Given the description of an element on the screen output the (x, y) to click on. 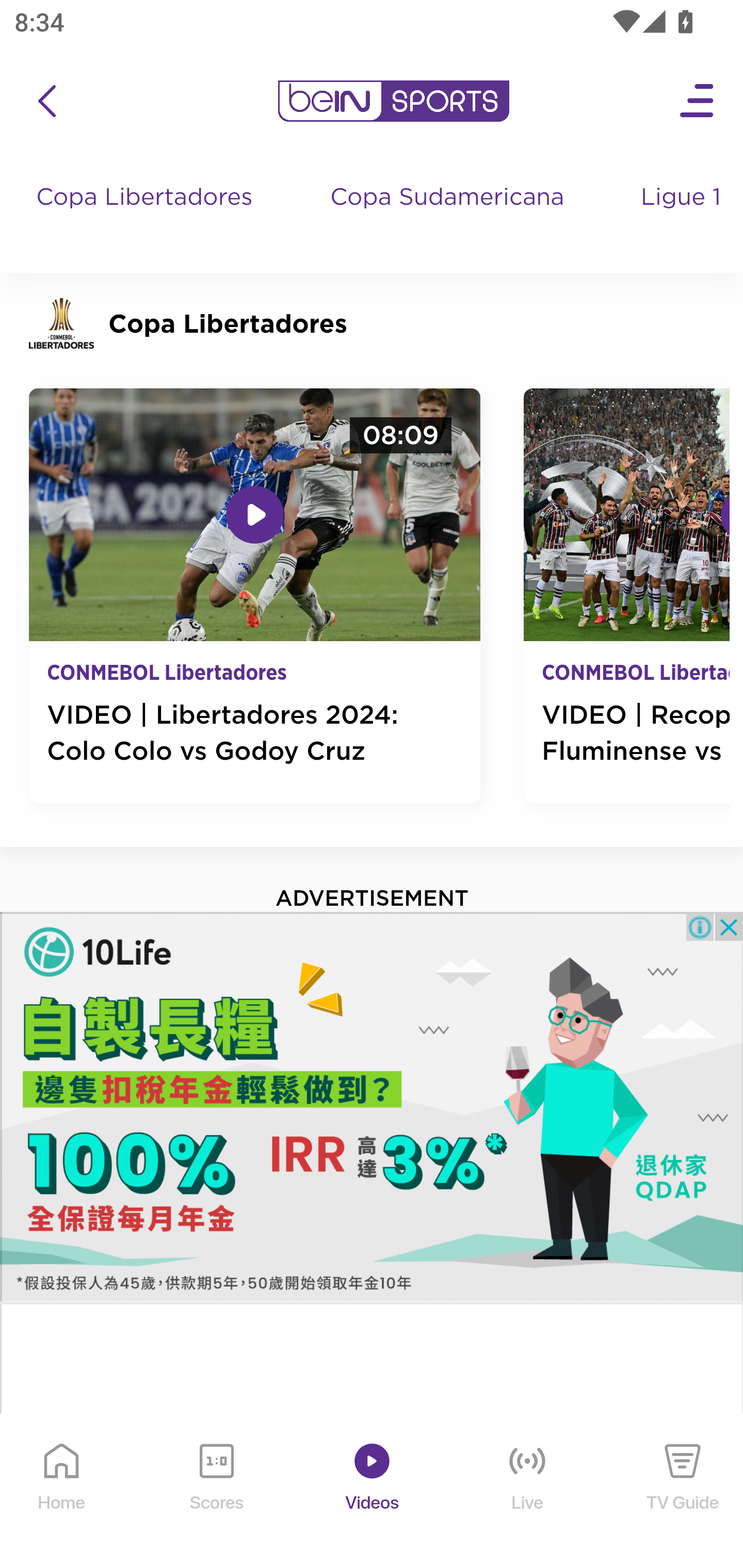
en-us?platform=mobile_android bein logo (392, 101)
icon back (46, 101)
Open Menu Icon (697, 101)
Copa Libertadores (146, 216)
Copa Sudamericana (448, 216)
Ligue 1 (682, 216)
Home Home Icon Home (61, 1491)
Scores Scores Icon Scores (216, 1491)
Videos Videos Icon Videos (372, 1491)
TV Guide TV Guide Icon TV Guide (682, 1491)
